Given the description of an element on the screen output the (x, y) to click on. 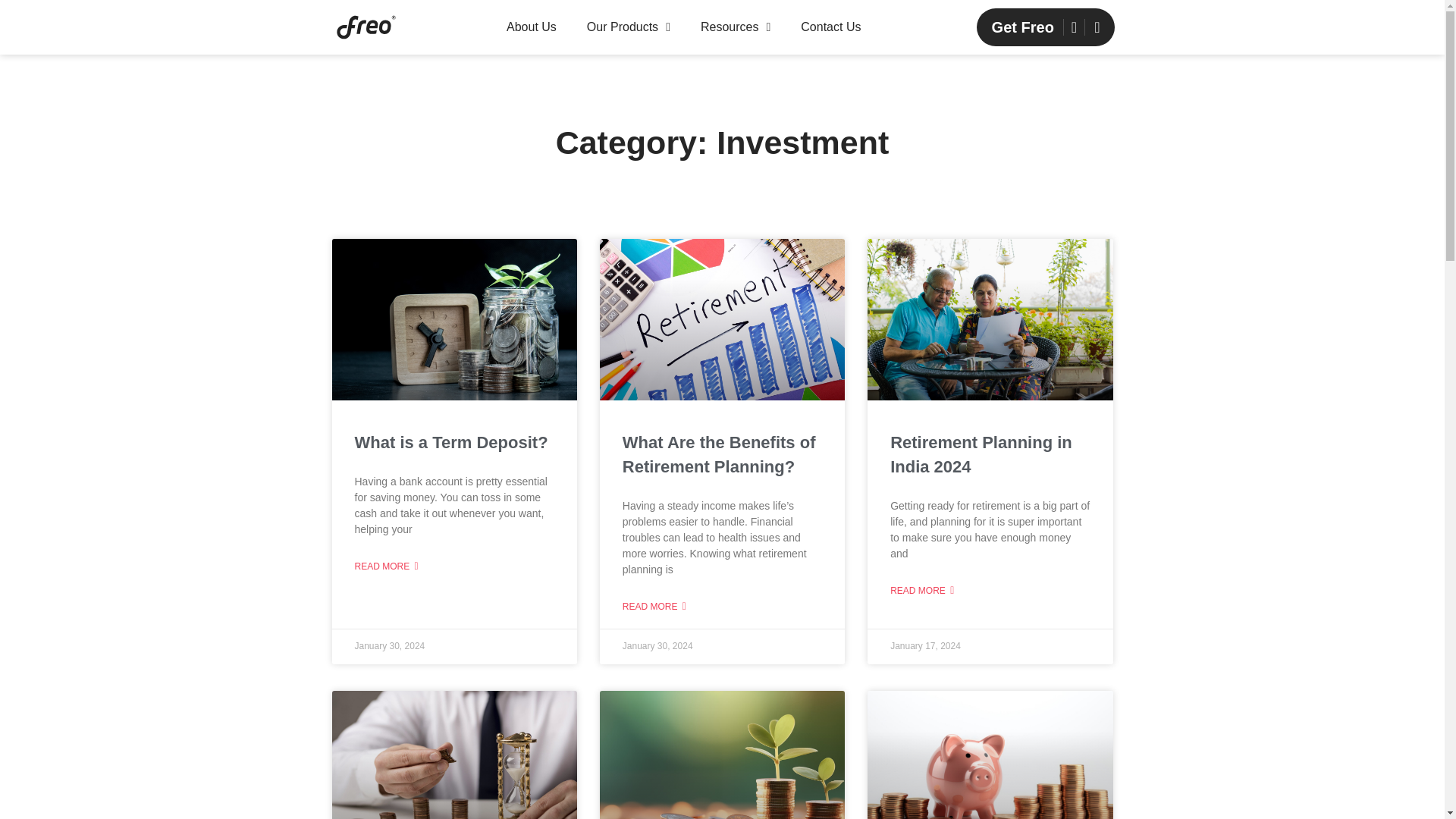
About Us (531, 26)
Resources (735, 26)
Contact Us (830, 26)
Our Products (627, 26)
